Given the description of an element on the screen output the (x, y) to click on. 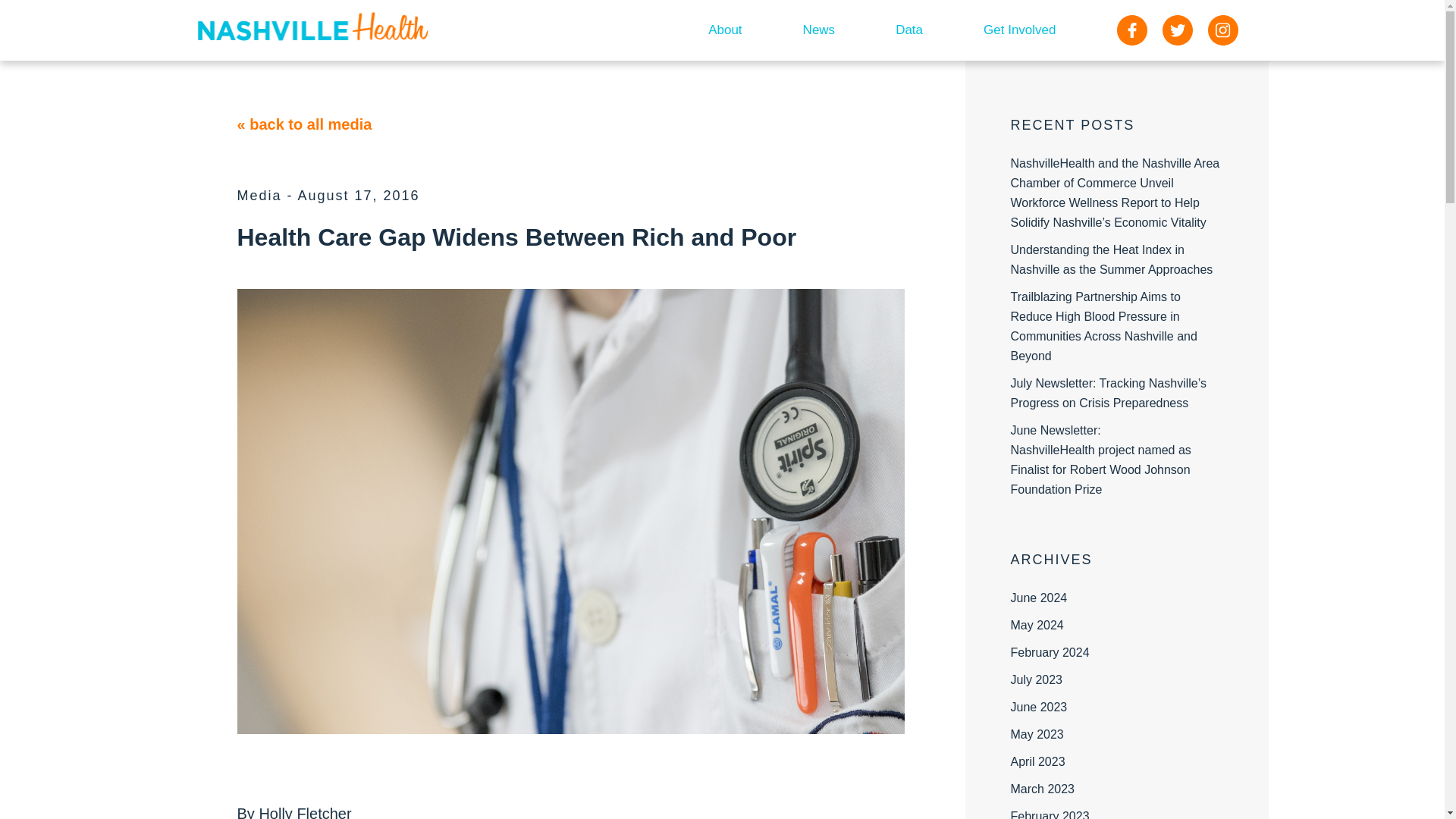
April 2023 (1037, 761)
June 2023 (1038, 707)
July 2023 (1036, 679)
Get Involved (1019, 30)
March 2023 (1042, 788)
News (819, 30)
Data (908, 30)
May 2023 (1036, 734)
About (724, 30)
February 2023 (1049, 814)
June 2024 (1038, 597)
May 2024 (1036, 625)
February 2024 (1049, 652)
